Given the description of an element on the screen output the (x, y) to click on. 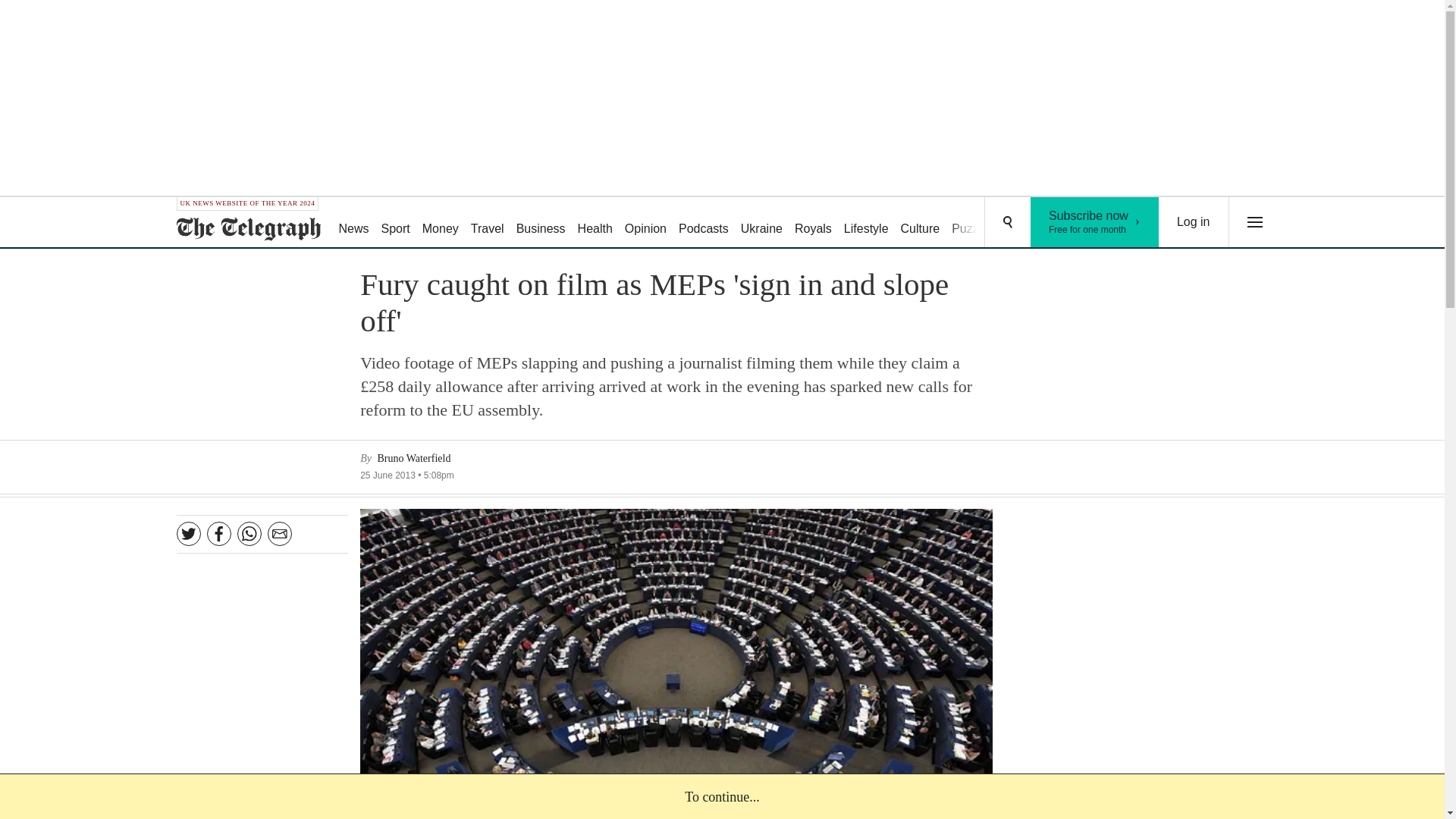
Podcasts (703, 223)
Opinion (645, 223)
Health (595, 223)
Log in (1193, 222)
Royals (813, 223)
Ukraine (762, 223)
Travel (487, 223)
Money (1094, 222)
Culture (440, 223)
Business (920, 223)
Puzzles (541, 223)
Lifestyle (972, 223)
